Given the description of an element on the screen output the (x, y) to click on. 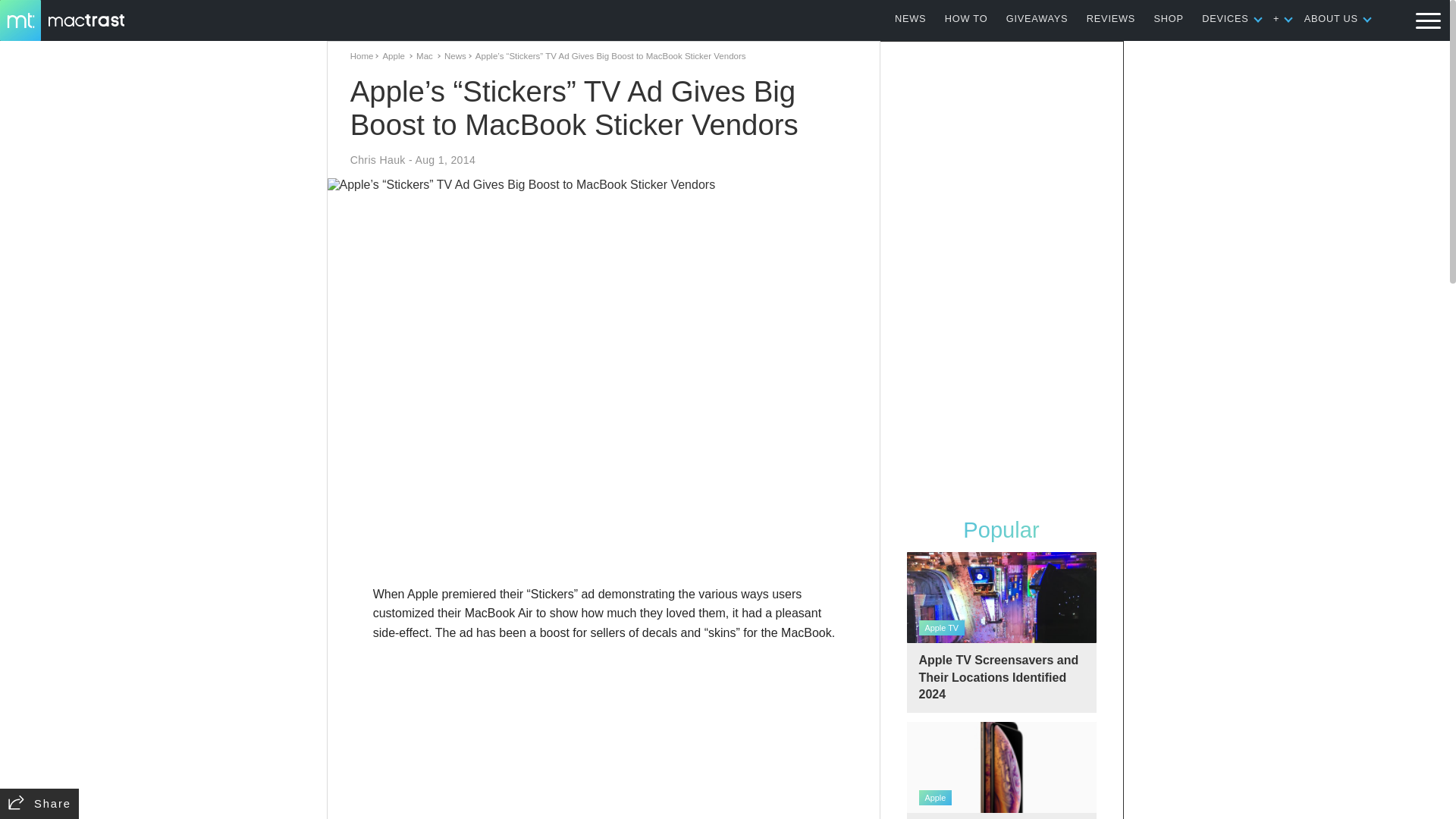
Posts by Chris Hauk (378, 159)
GIVEAWAYS (1037, 18)
HOW TO (966, 18)
iPhone XS and XS Max Wallpapers in High Quality for Download (1001, 770)
REVIEWS (1110, 18)
SHOP (1168, 18)
Apple TV Screensavers and Their Locations Identified 2024 (1001, 632)
ABOUT US (1331, 18)
NEWS (910, 18)
DEVICES (1224, 18)
